Given the description of an element on the screen output the (x, y) to click on. 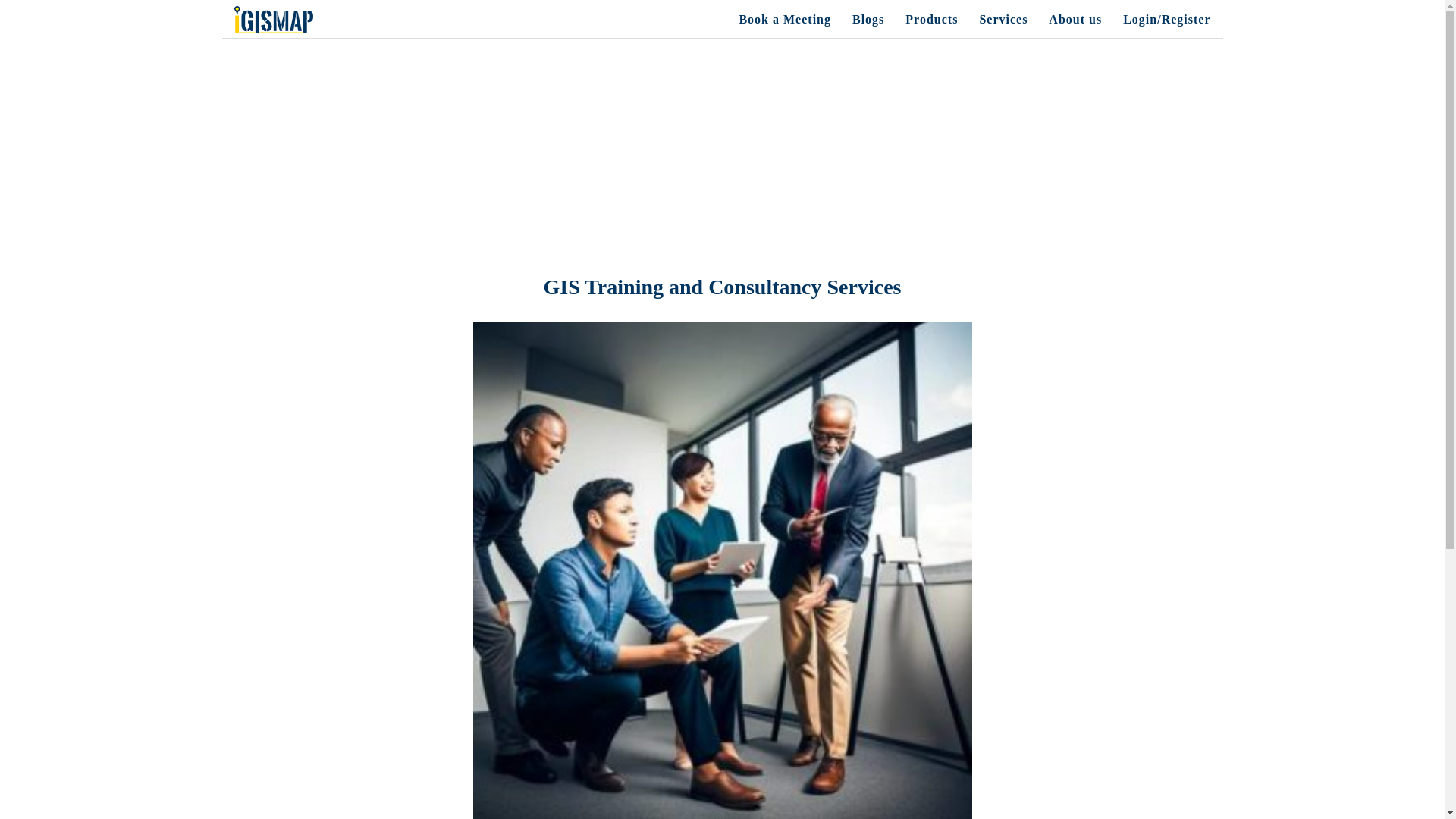
About us (1075, 19)
Products (931, 19)
Blogs (868, 19)
Book a Meeting (784, 19)
Services (1003, 19)
